Given the description of an element on the screen output the (x, y) to click on. 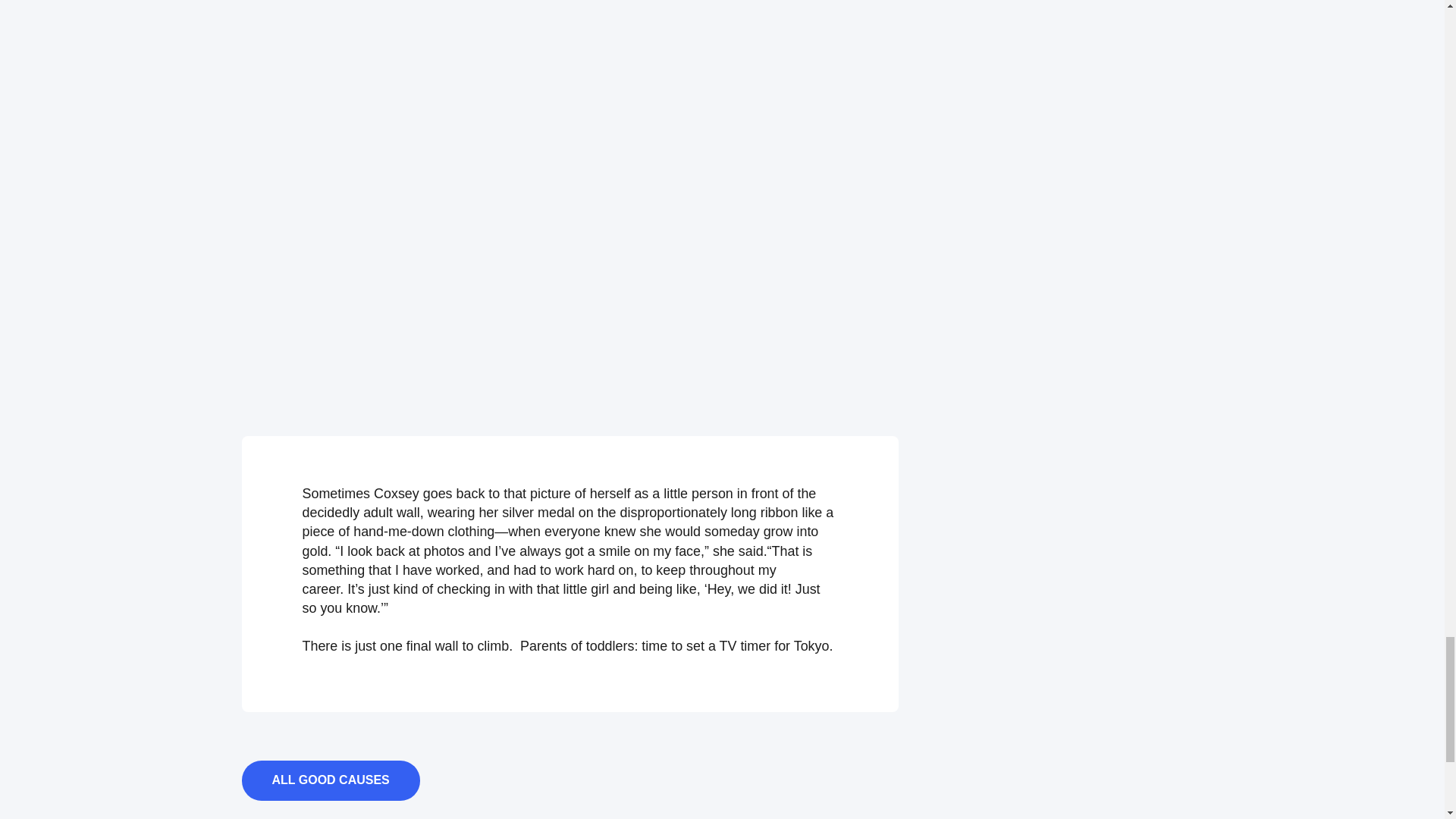
ALL GOOD CAUSES (330, 780)
